Given the description of an element on the screen output the (x, y) to click on. 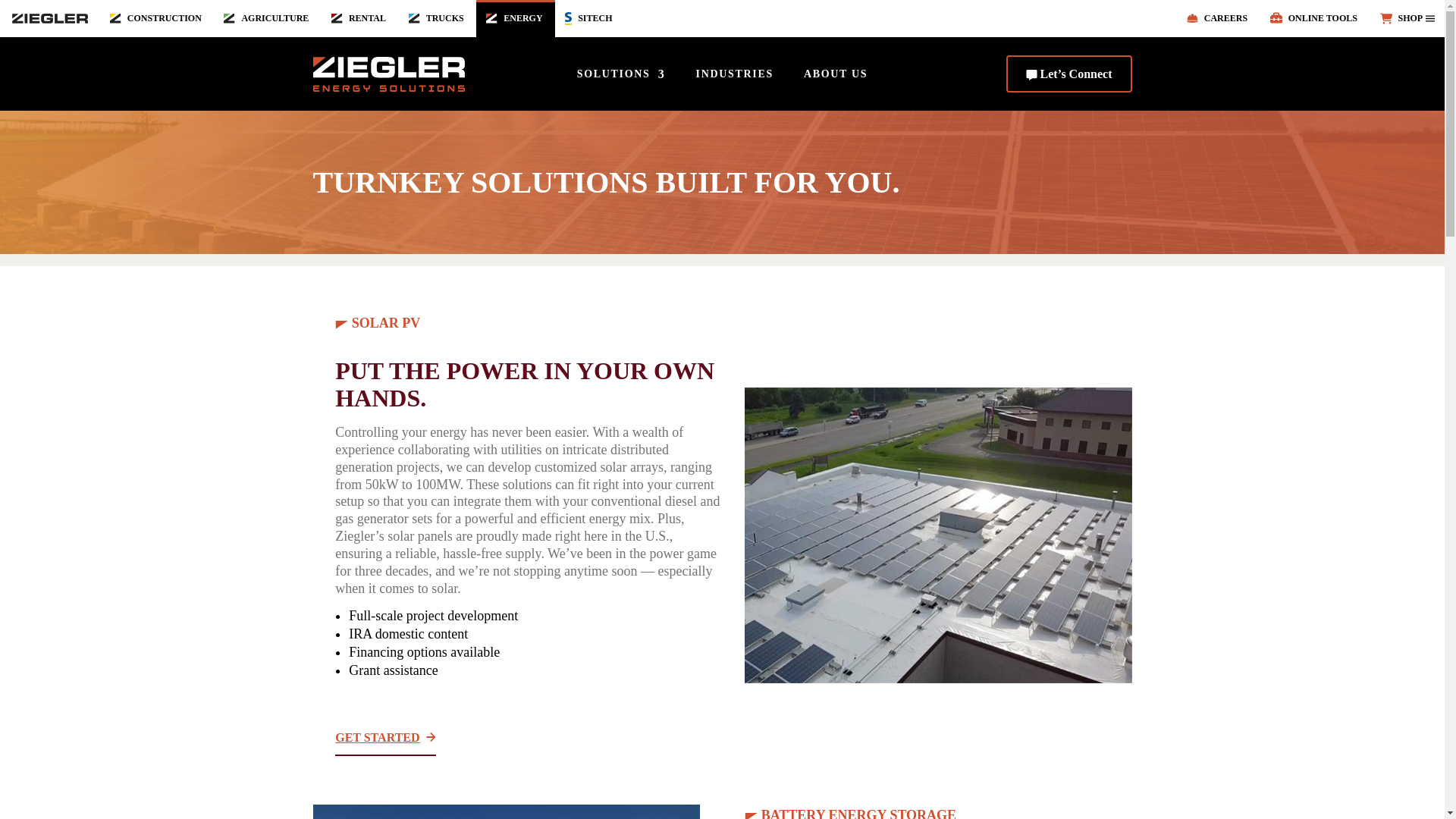
TRUCKS (437, 18)
CAREERS (1218, 18)
AGRICULTURE (267, 18)
CONSTRUCTION (157, 18)
GET STARTED (384, 737)
SolarPlus (505, 811)
ENERGY (515, 18)
ABOUT US (835, 76)
SOLUTIONS (620, 76)
ONLINE TOOLS (1315, 18)
